Given the description of an element on the screen output the (x, y) to click on. 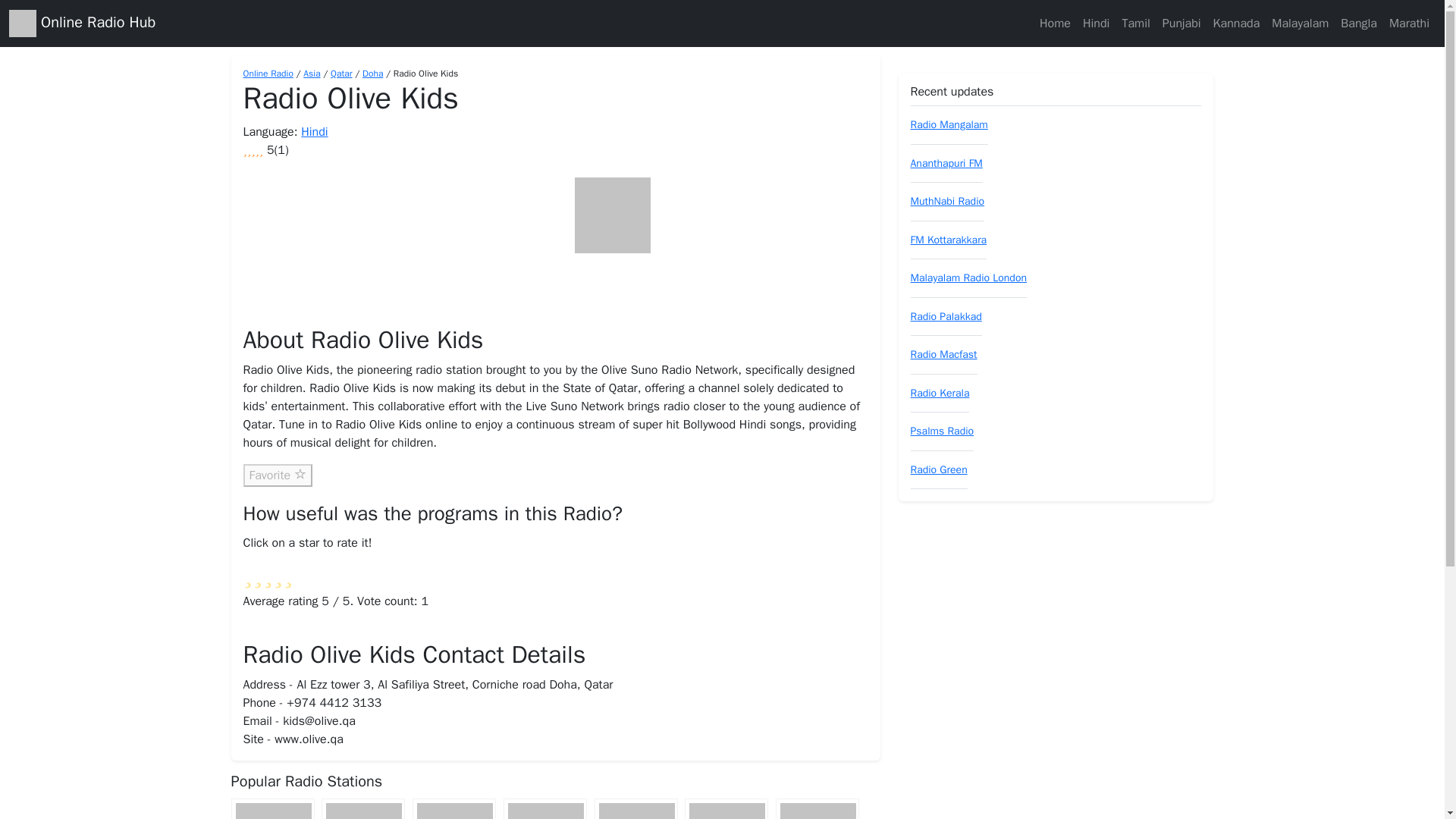
Kannada (1236, 23)
Sangeet Samvaad (817, 808)
Radio Olive Retro (362, 808)
Radio Olive (272, 808)
Radio Macfast (943, 354)
Bolly 102.9 FM (544, 808)
AIR Agra (726, 808)
Radio Olive Retro (362, 808)
Radio Mangalam (948, 124)
Hindi (1096, 23)
